Given the description of an element on the screen output the (x, y) to click on. 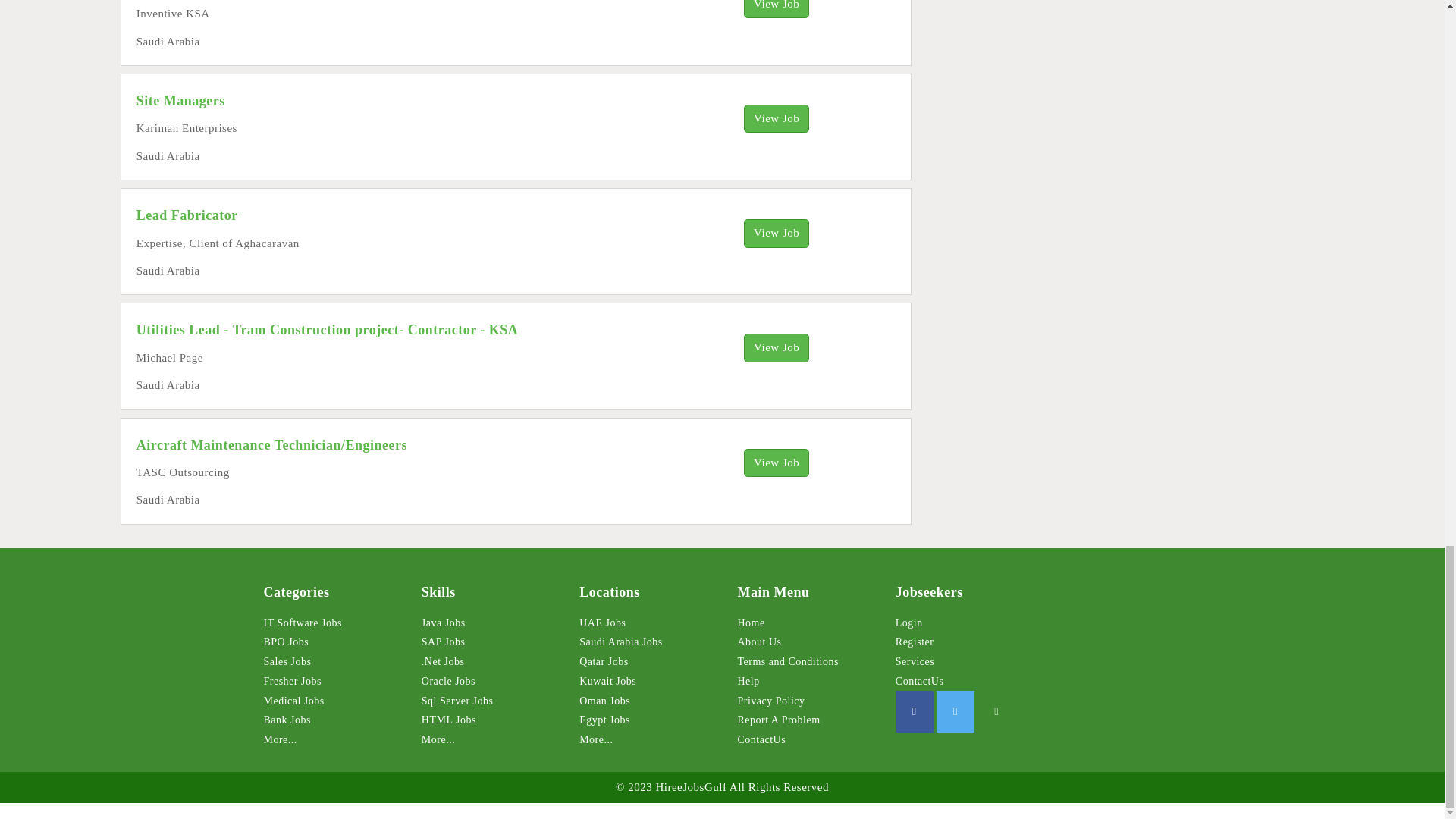
View Job (776, 347)
BPO Jobs (285, 641)
Utilities Lead - Tram Construction project- Contractor - KSA (327, 329)
Site Managers (180, 100)
View Job (776, 462)
IT Software Jobs (302, 622)
View Job (776, 118)
View Job (776, 9)
Lead Fabricator (187, 215)
View Job (776, 233)
